Given the description of an element on the screen output the (x, y) to click on. 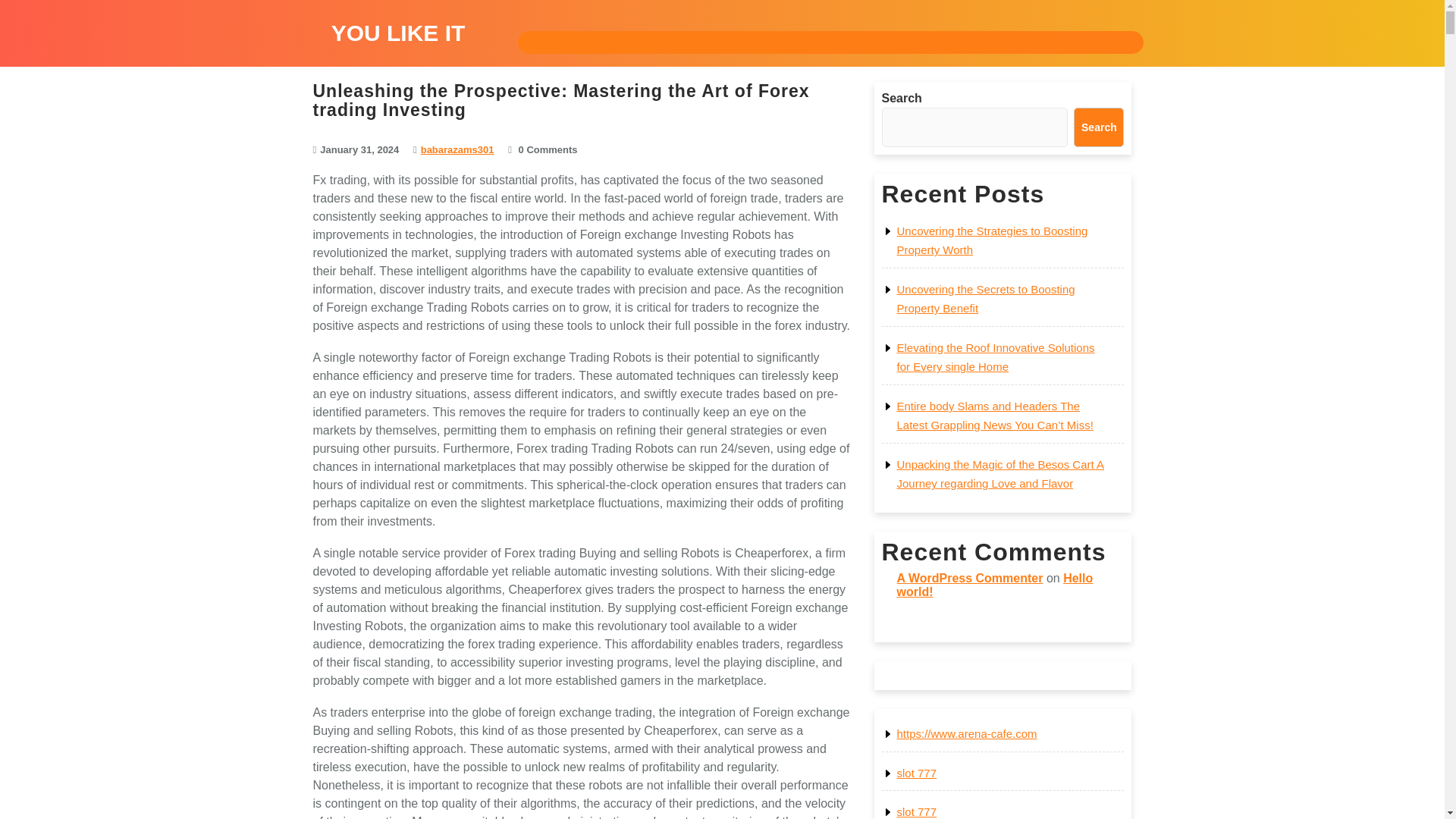
A WordPress Commenter (969, 577)
YOU LIKE IT (398, 32)
Uncovering the Secrets to Boosting Property Benefit (985, 298)
Hello world! (994, 584)
slot 777 (916, 811)
babarazams301 (457, 149)
Search (1099, 127)
Uncovering the Strategies to Boosting Property Worth (991, 240)
